Given the description of an element on the screen output the (x, y) to click on. 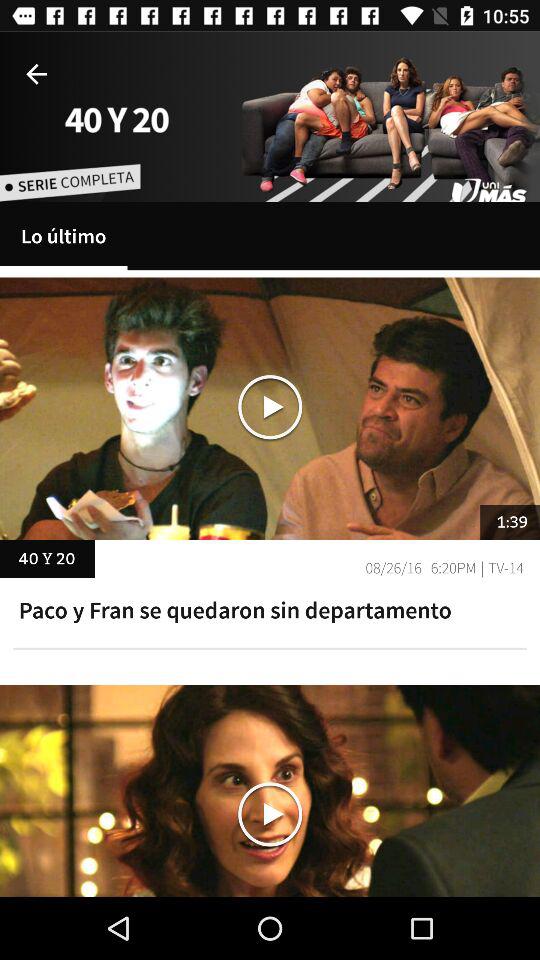
go to previous (36, 74)
